Given the description of an element on the screen output the (x, y) to click on. 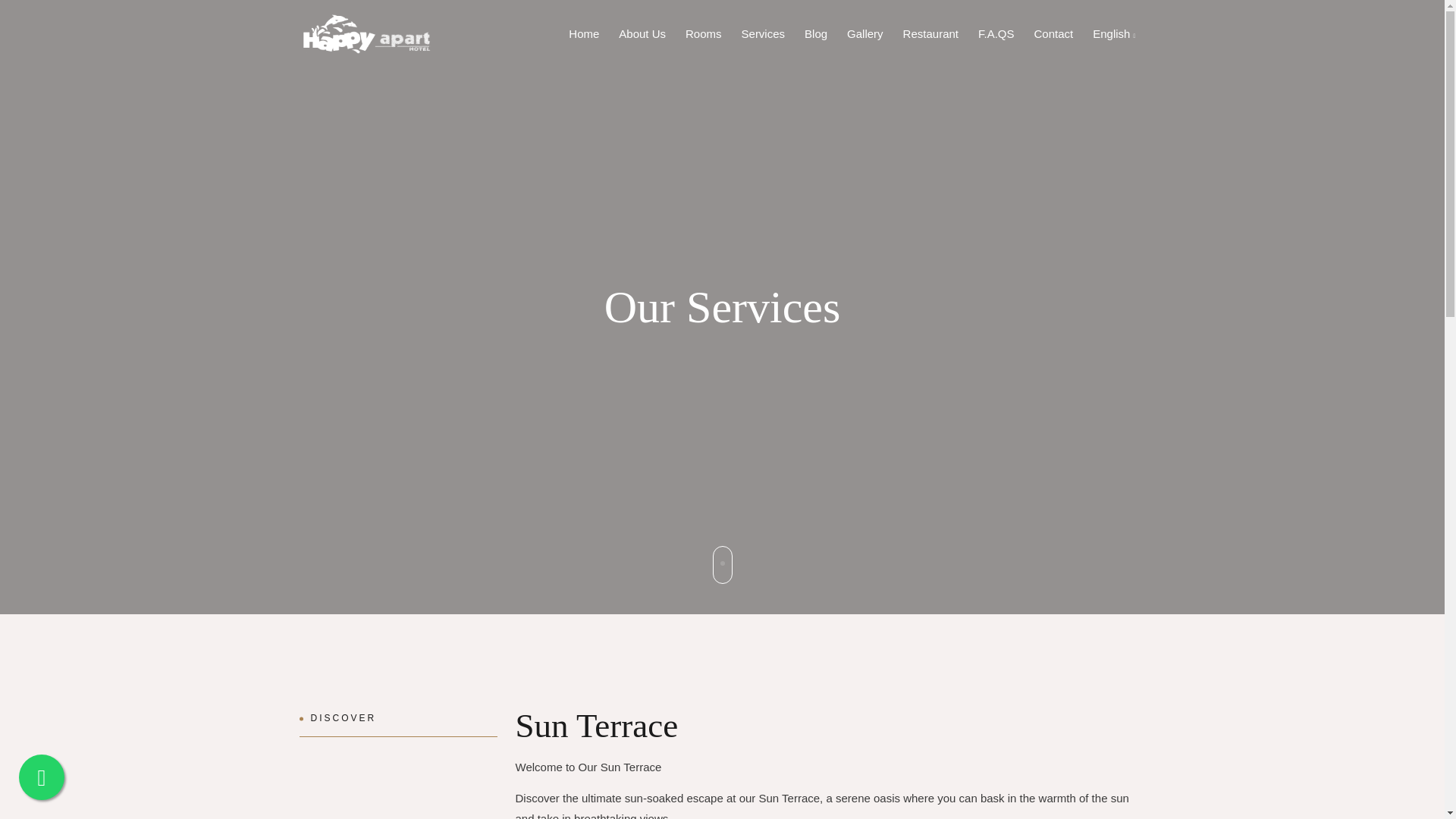
Restaurant (930, 33)
Gallery (865, 33)
Home (583, 33)
Blog (814, 33)
F.A.QS (996, 33)
Services (763, 33)
Contact (1054, 33)
Rooms (703, 33)
English (1113, 33)
About Us (642, 33)
